Given the description of an element on the screen output the (x, y) to click on. 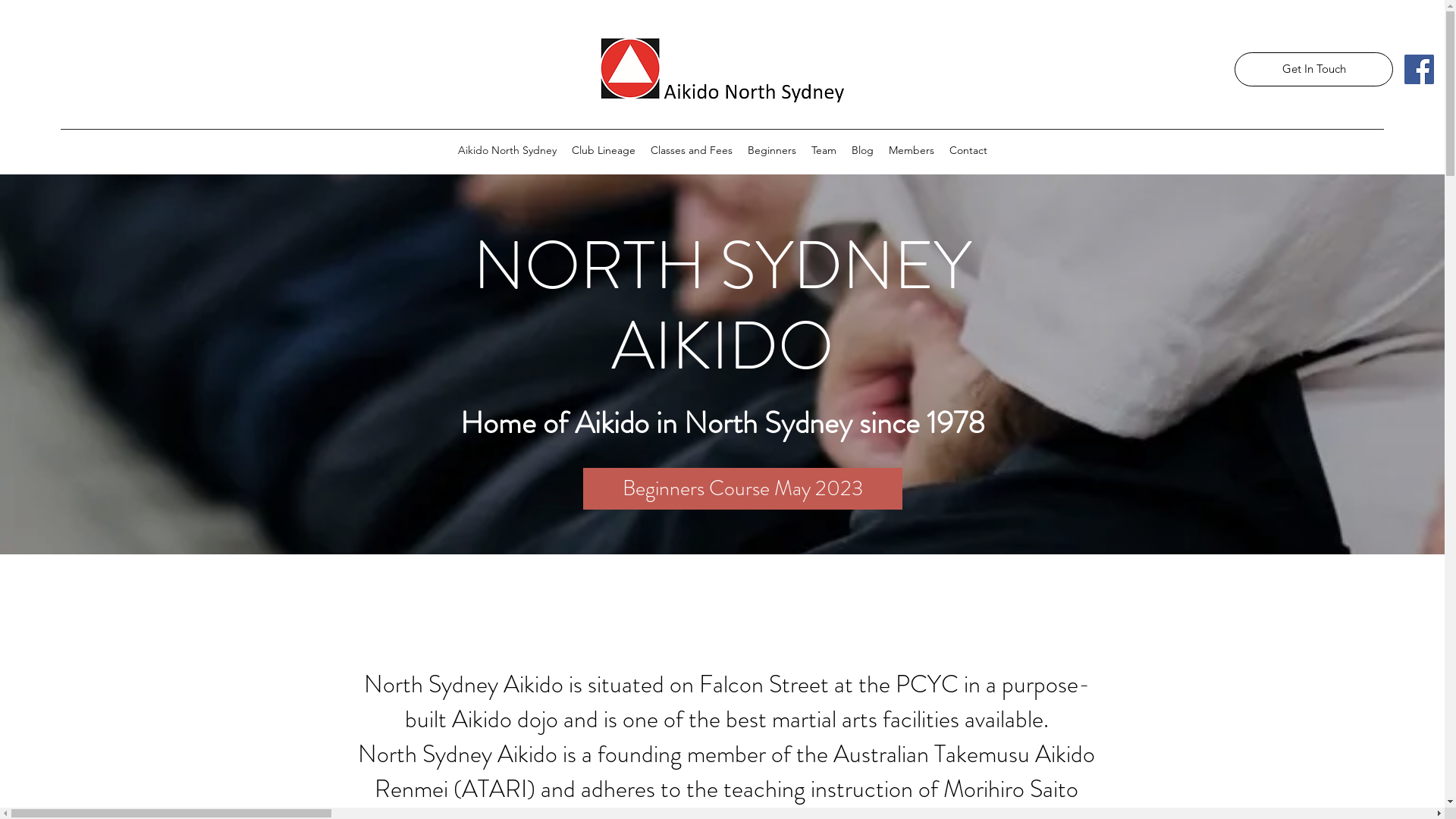
Members Element type: text (911, 150)
Classes and Fees Element type: text (691, 150)
Aikido North Sydney Element type: text (507, 150)
Get In Touch Element type: text (1313, 69)
Club Lineage Element type: text (603, 150)
Beginners Element type: text (771, 150)
Beginners Course May 2023 Element type: text (741, 488)
Blog Element type: text (861, 150)
Team Element type: text (823, 150)
Contact Element type: text (967, 150)
